Given the description of an element on the screen output the (x, y) to click on. 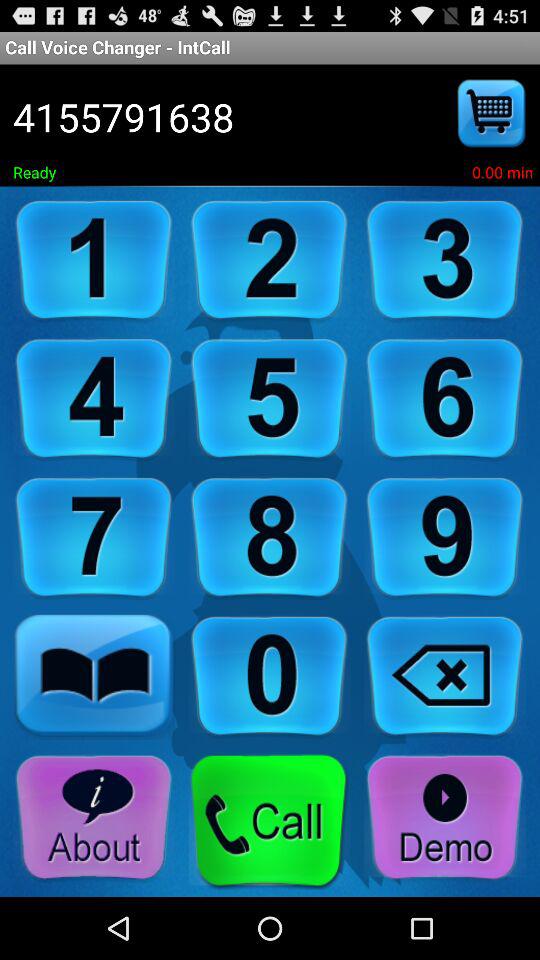
number option (269, 676)
